Given the description of an element on the screen output the (x, y) to click on. 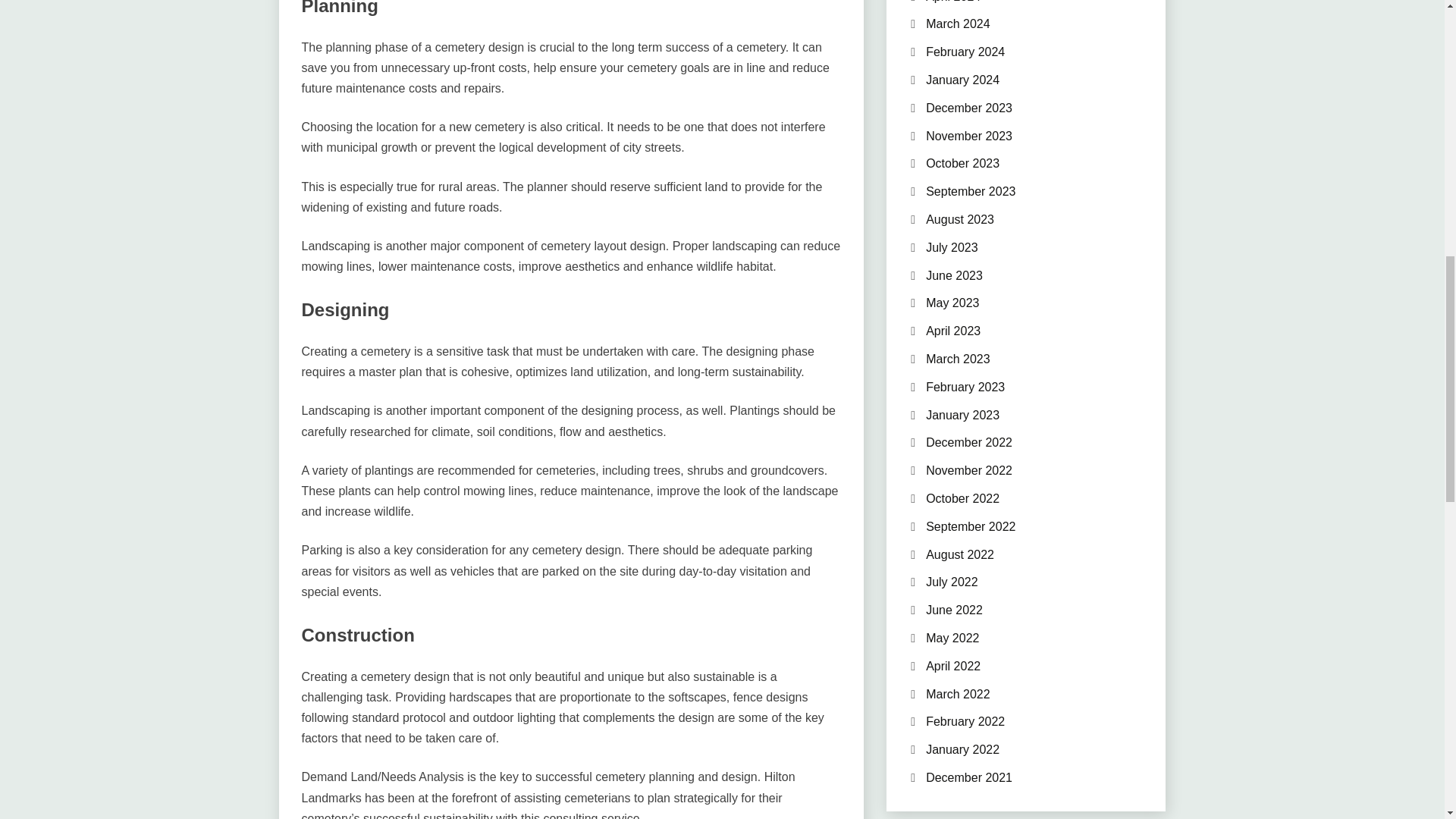
December 2023 (968, 107)
July 2023 (952, 246)
January 2024 (962, 79)
November 2023 (968, 135)
May 2023 (952, 302)
June 2023 (954, 275)
April 2024 (952, 1)
February 2024 (965, 51)
March 2024 (958, 23)
August 2023 (960, 219)
